Given the description of an element on the screen output the (x, y) to click on. 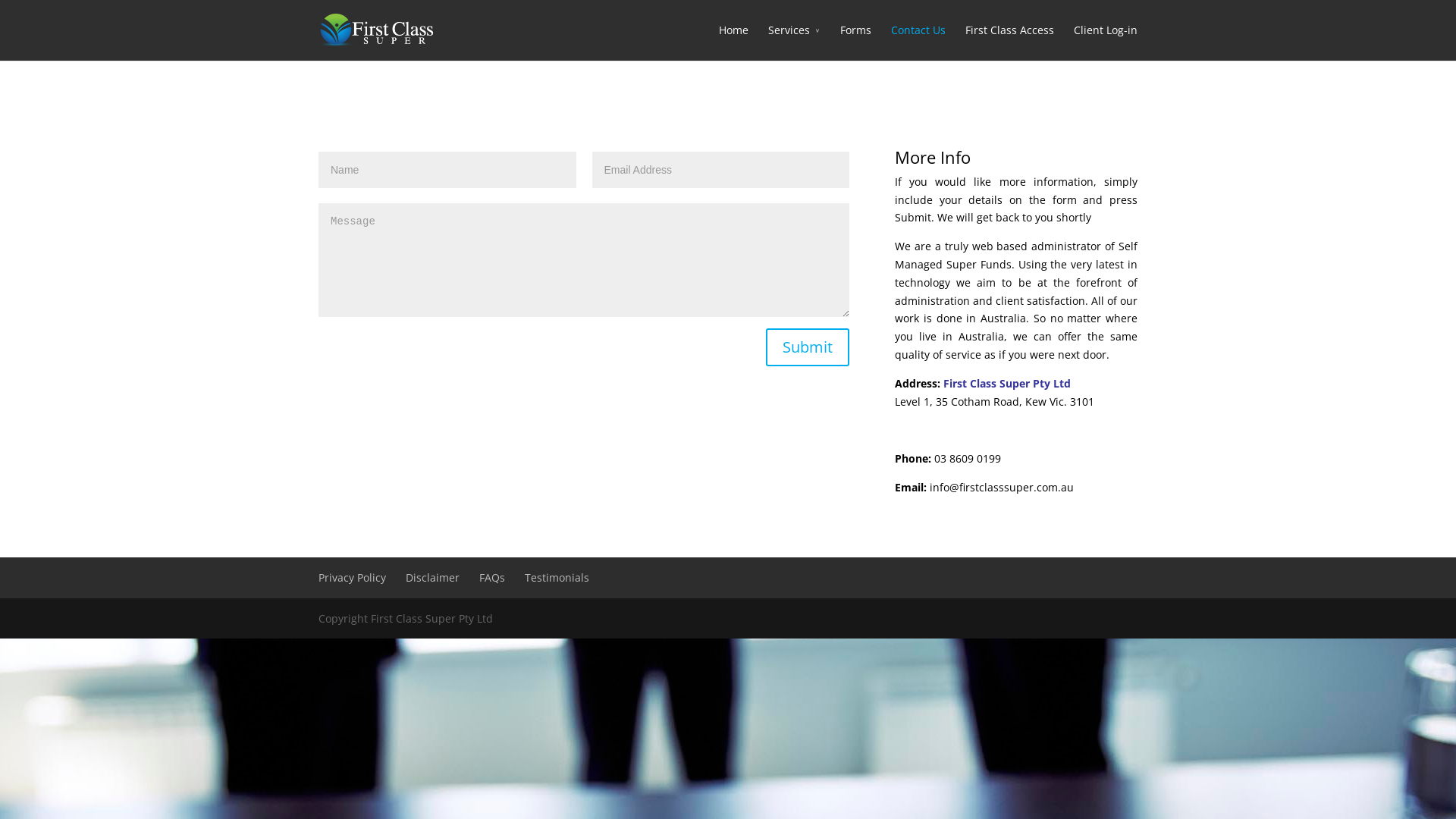
Contact Us Element type: text (918, 40)
Home Element type: text (733, 40)
Submit Element type: text (807, 347)
First Class Access Element type: text (1009, 40)
Privacy Policy Element type: text (351, 577)
Disclaimer Element type: text (432, 577)
Services Element type: text (794, 40)
Client Log-in Element type: text (1105, 40)
FAQs Element type: text (492, 577)
Forms Element type: text (855, 40)
Testimonials Element type: text (556, 577)
